Given the description of an element on the screen output the (x, y) to click on. 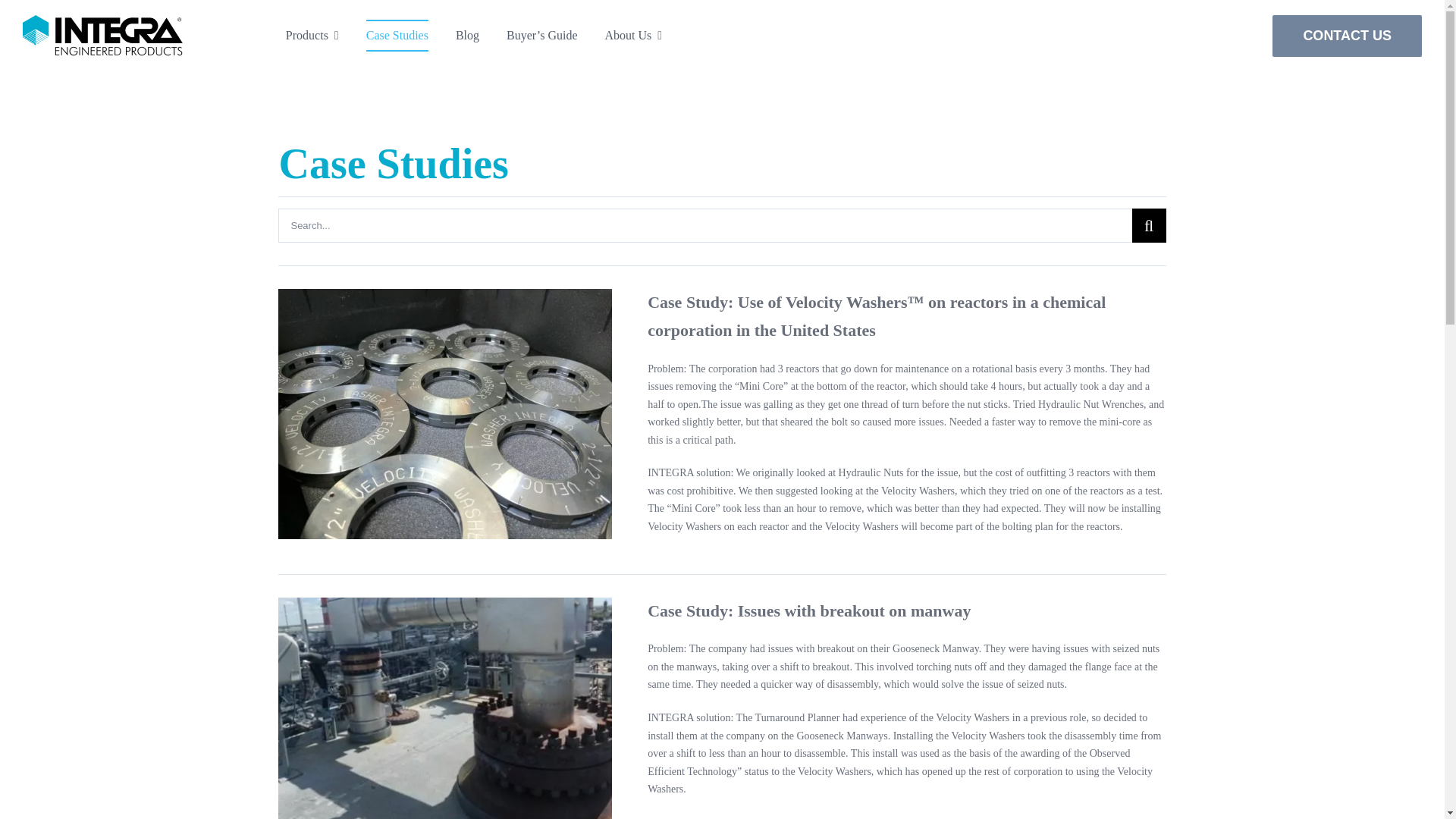
Case Studies (397, 35)
Velocity Washers (444, 413)
Products (312, 35)
BlackHawk Hydraulic Nuts (444, 708)
CONTACT US (722, 185)
About Us (1347, 35)
